Given the description of an element on the screen output the (x, y) to click on. 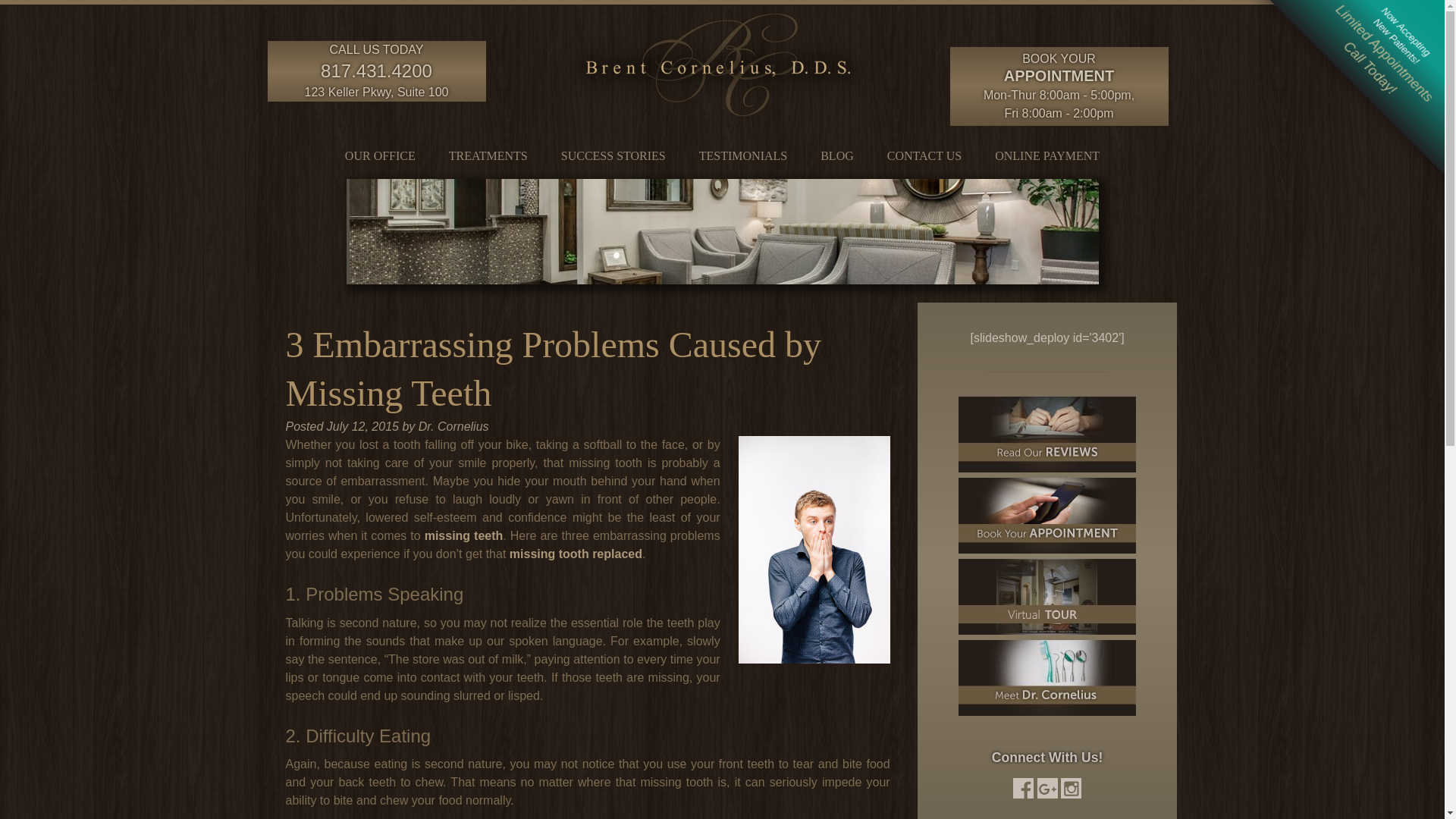
TREATMENTS (488, 152)
OUR OFFICE (380, 152)
SUCCESS STORIES (613, 152)
817.431.4200 (376, 70)
TESTIMONIALS (743, 152)
